Given the description of an element on the screen output the (x, y) to click on. 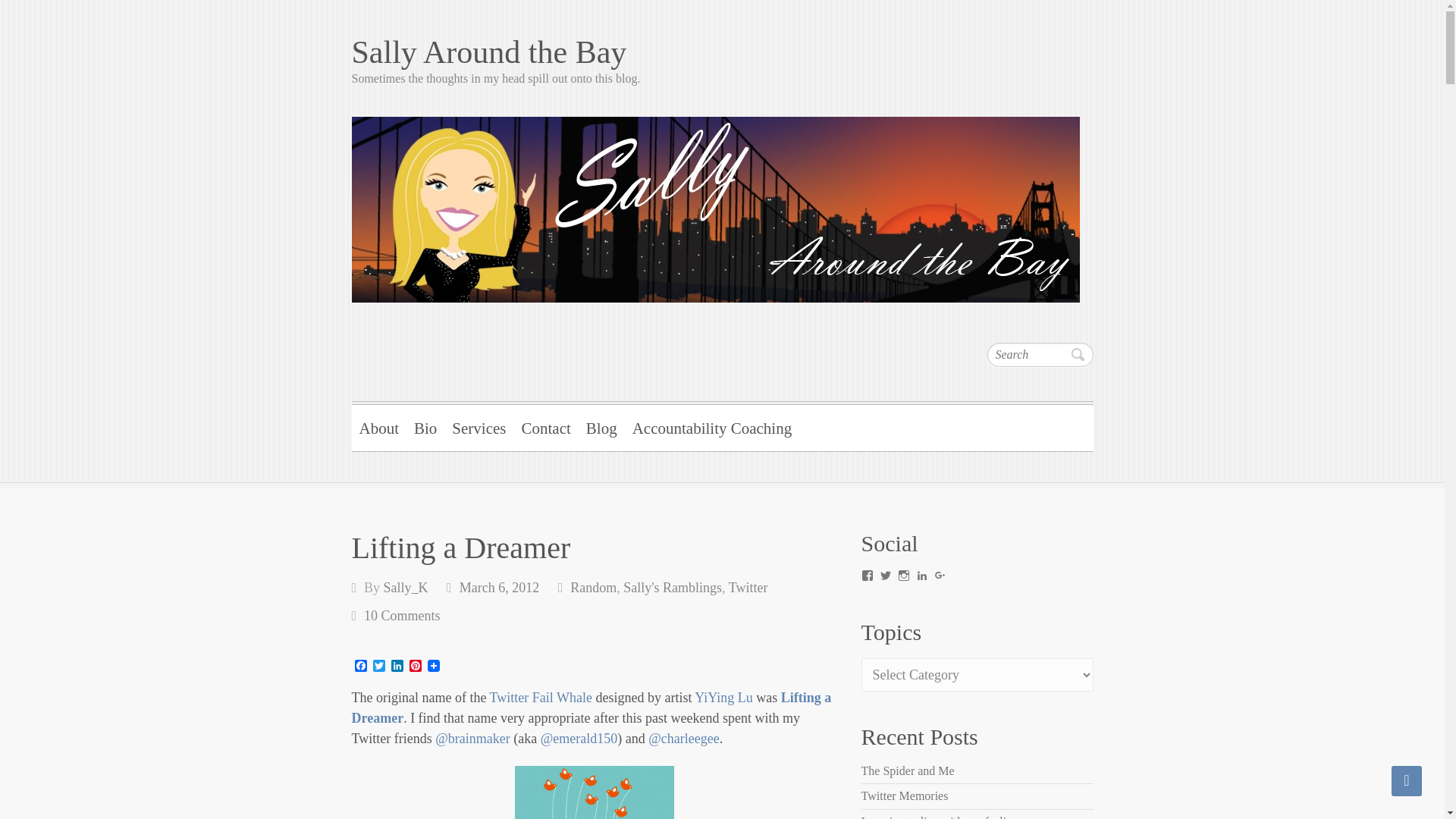
Contact (545, 426)
Sally's Ramblings (672, 587)
Pinterest (415, 667)
About (379, 426)
Twitter (748, 587)
LinkedIn (397, 667)
Facebook (360, 667)
March 6, 2012 (499, 587)
12:13 pm (499, 587)
10 Comments (402, 615)
Blog (601, 426)
Random (592, 587)
Twitter (378, 667)
Fail Whale (594, 792)
